Given the description of an element on the screen output the (x, y) to click on. 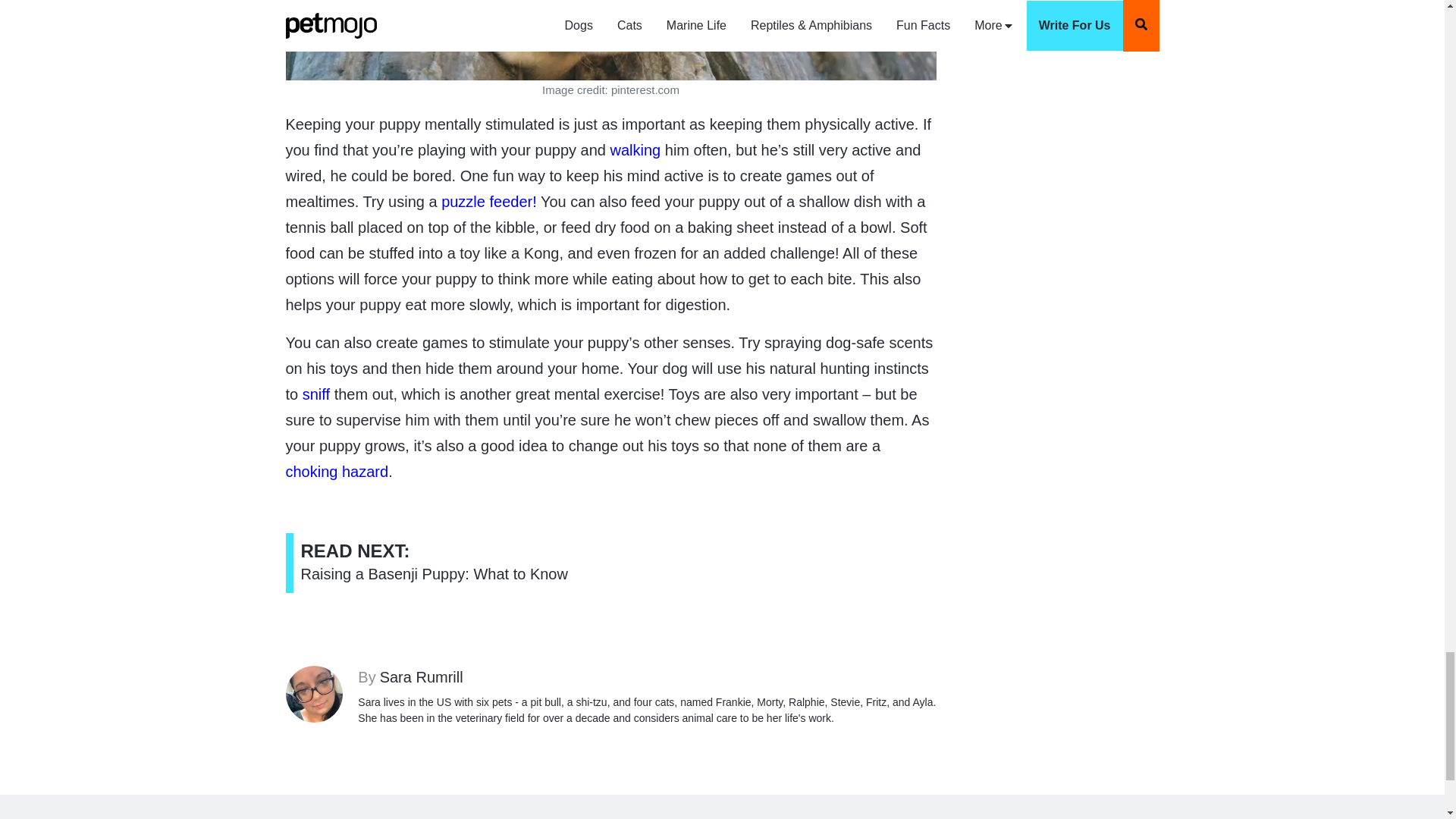
sniff (647, 676)
choking hazard (433, 562)
puzzle feeder! (316, 393)
walking (336, 471)
